Given the description of an element on the screen output the (x, y) to click on. 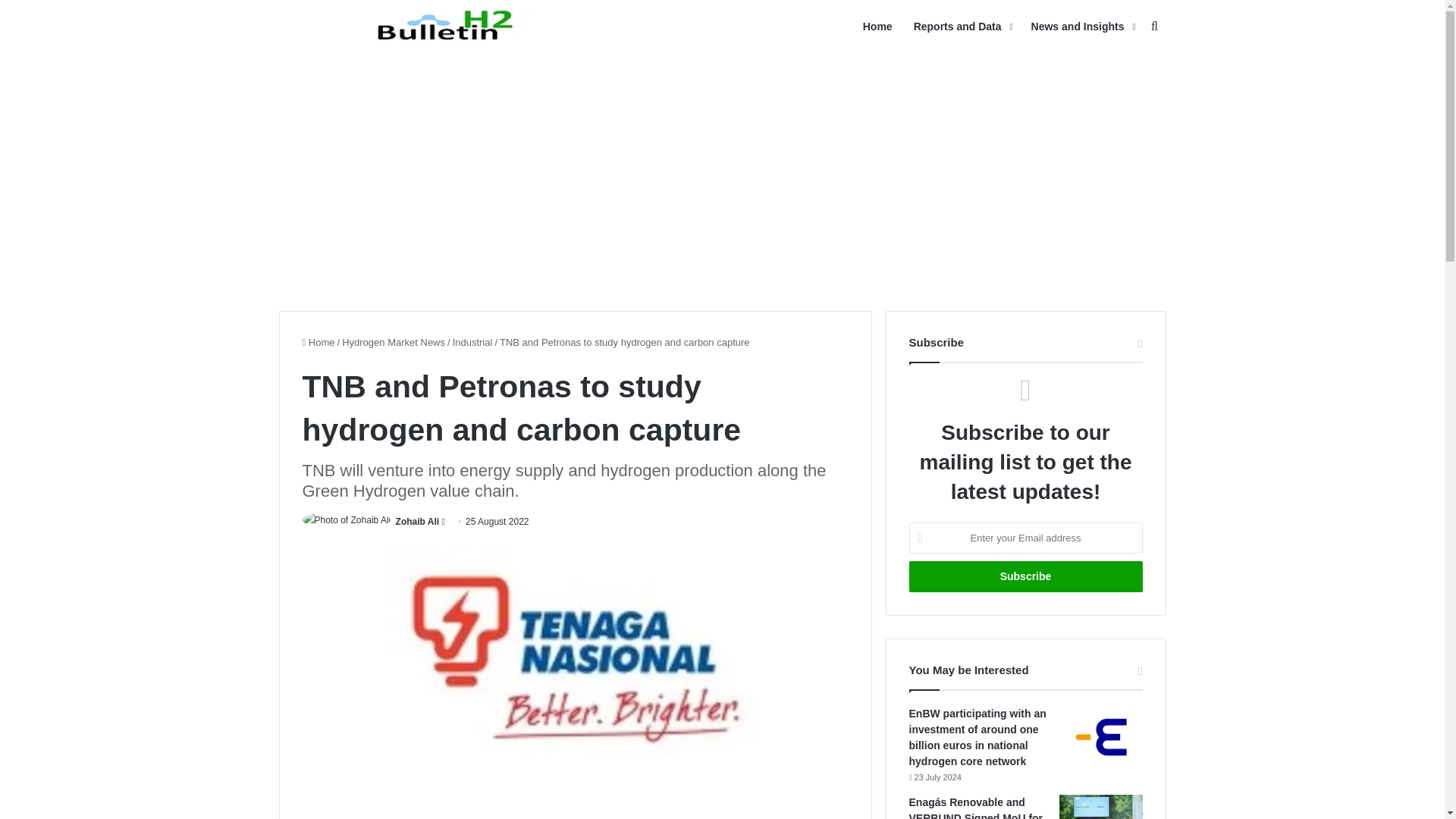
News and Insights (1081, 26)
Industrial (472, 342)
Zohaib Ali (417, 521)
Subscribe (1025, 576)
H2 Bulletin (449, 26)
Reports and Data (961, 26)
Zohaib Ali (417, 521)
Home (317, 342)
Home (876, 26)
Hydrogen Market News (393, 342)
Subscribe (1025, 576)
